Given the description of an element on the screen output the (x, y) to click on. 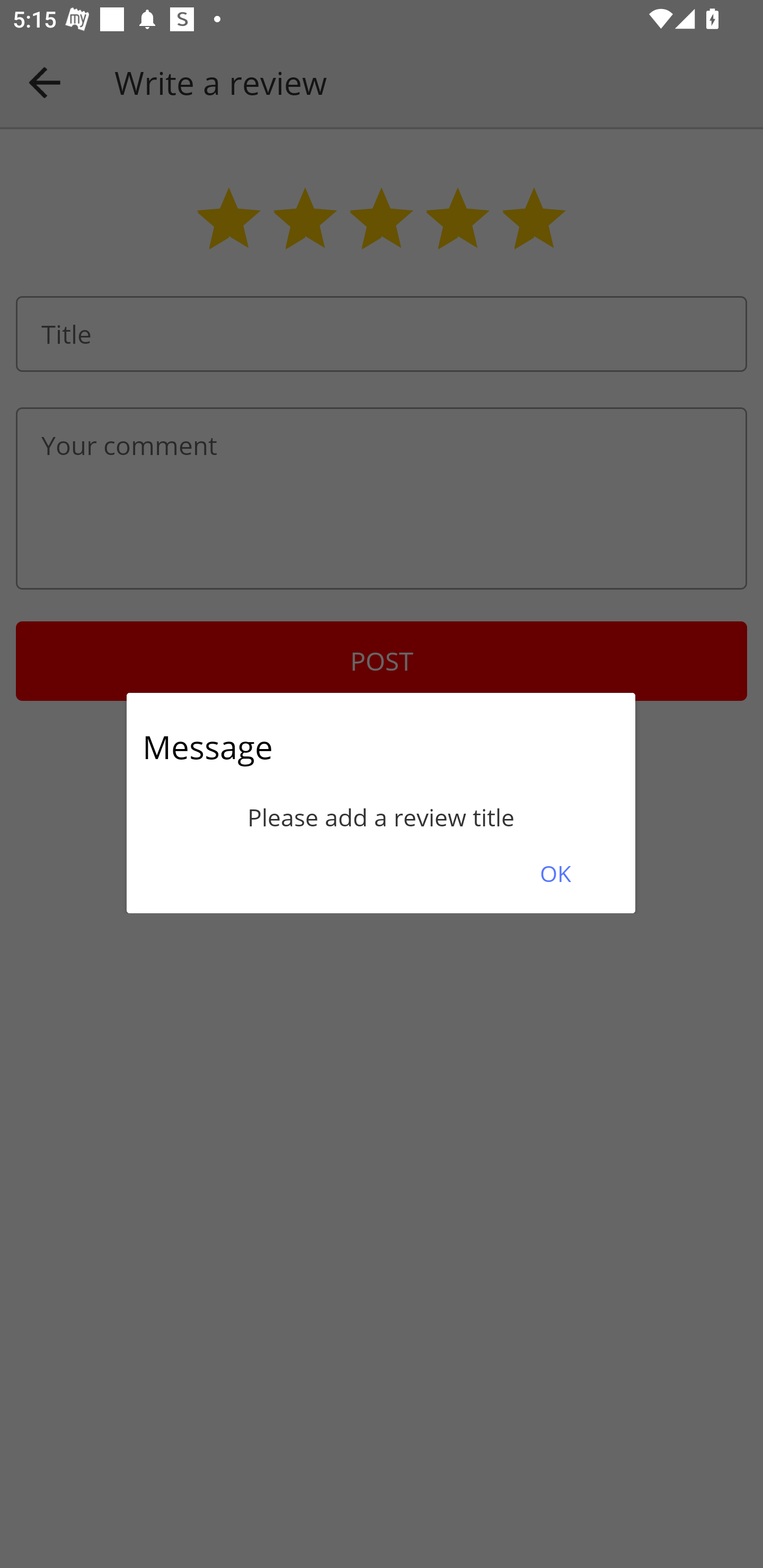
OK (555, 873)
